Given the description of an element on the screen output the (x, y) to click on. 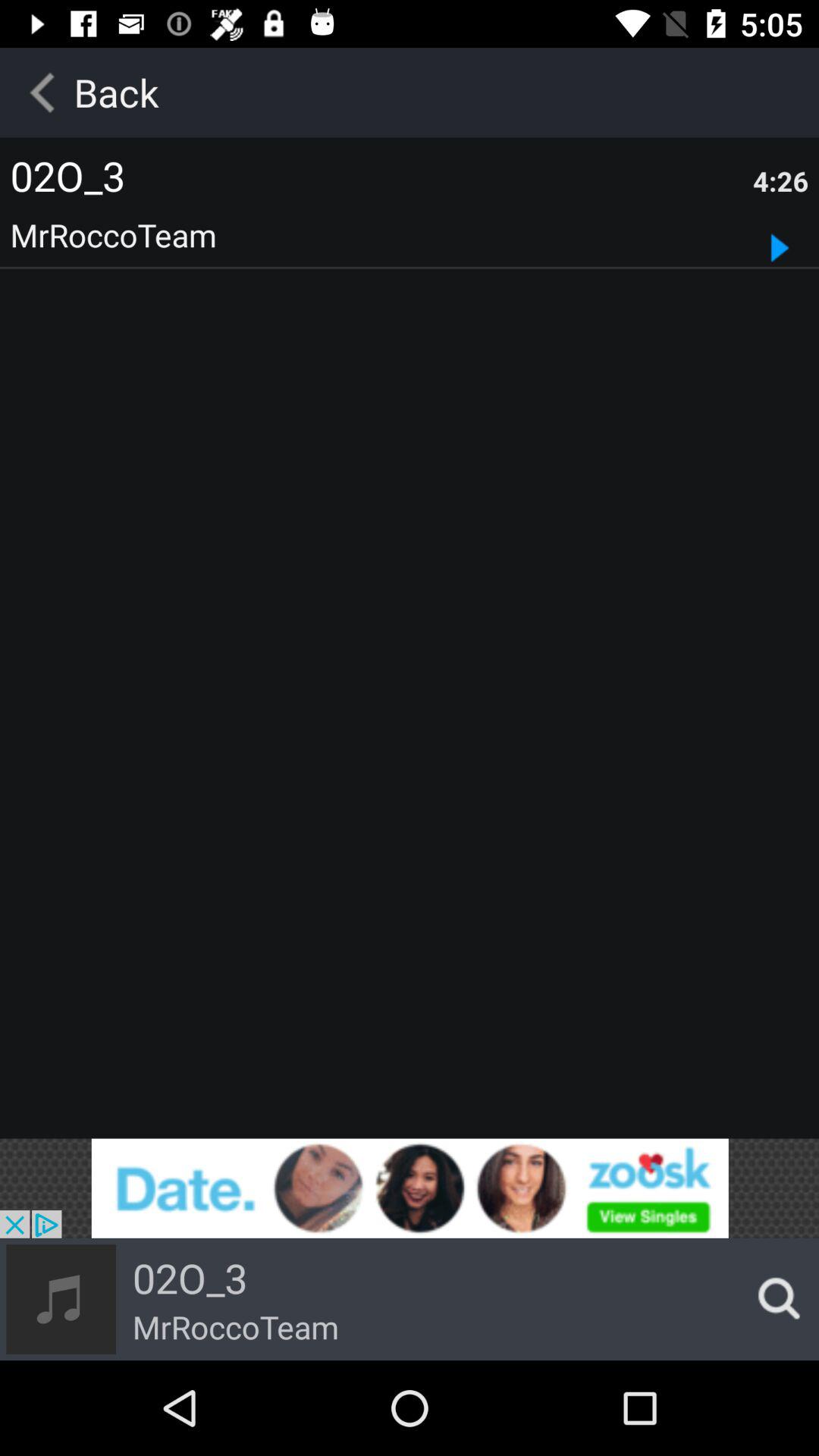
make a search (773, 1298)
